Given the description of an element on the screen output the (x, y) to click on. 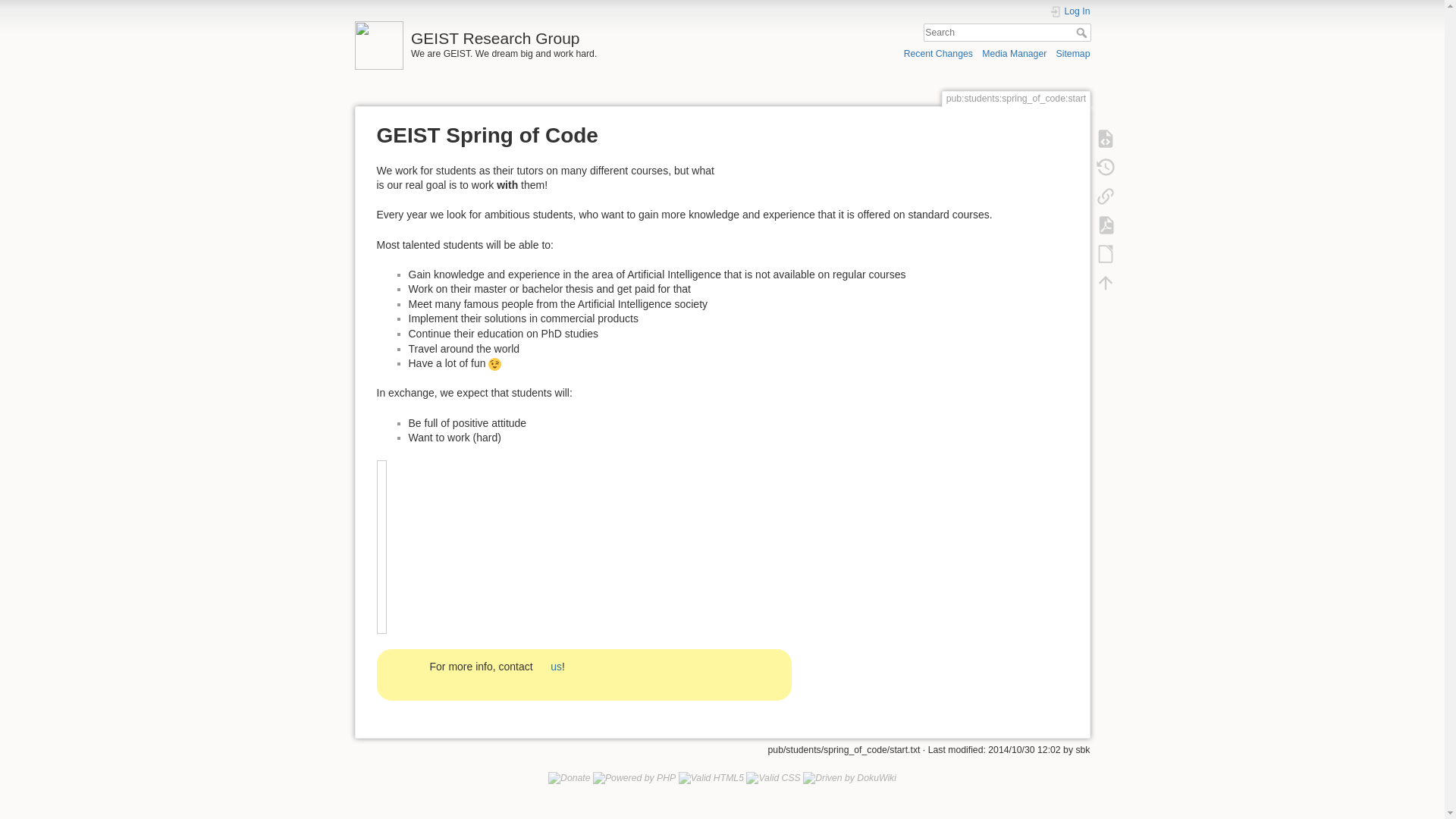
Search (1082, 32)
Media Manager (1013, 53)
Log In (1069, 11)
Recent Changes (938, 53)
Sitemap (1073, 53)
us (548, 666)
Export to PDF (1104, 224)
Search (1082, 32)
Backlinks (1104, 194)
GEIST Research Group (534, 34)
